Given the description of an element on the screen output the (x, y) to click on. 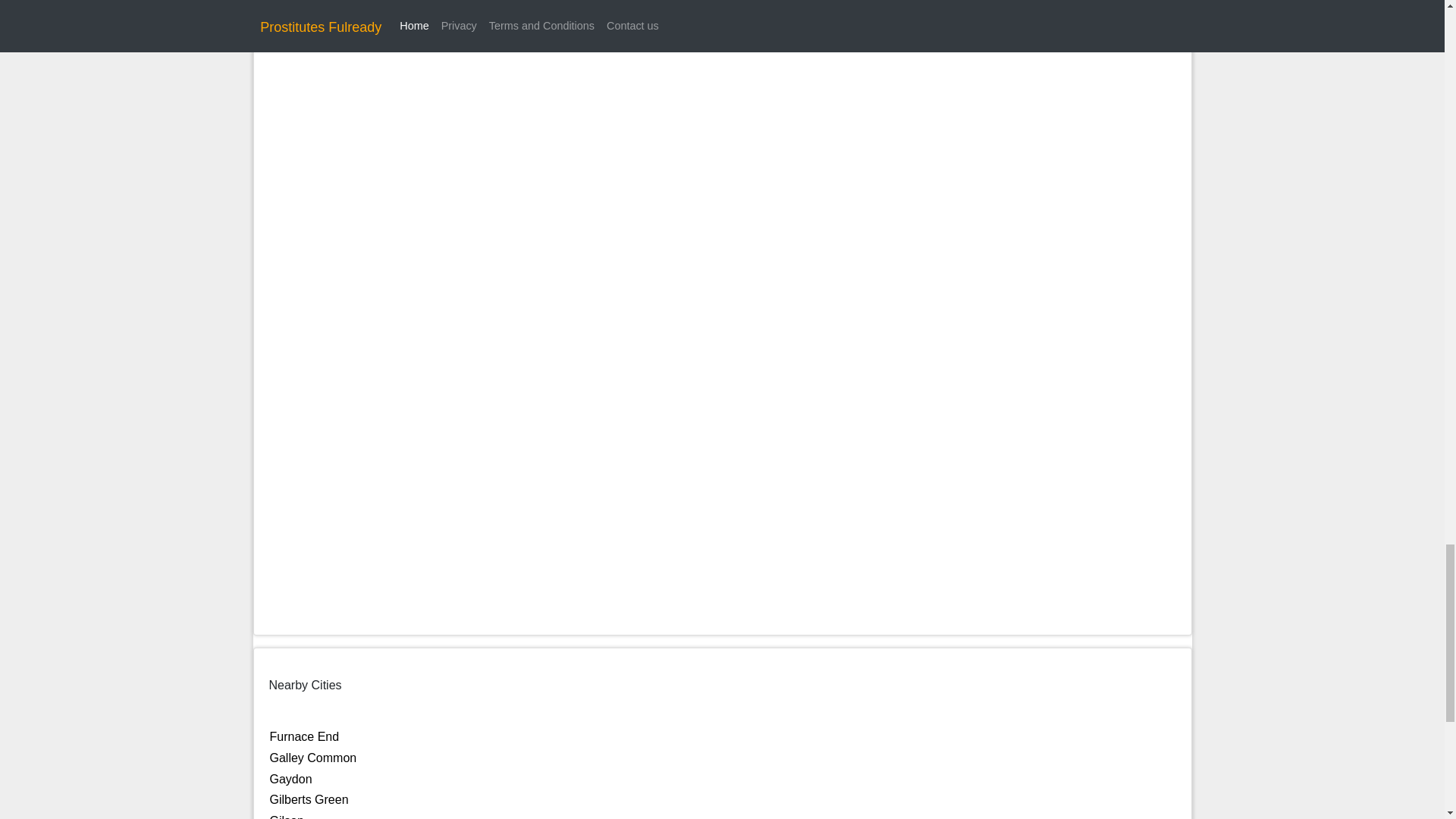
Gilson (286, 816)
Galley Common (312, 757)
Furnace End (304, 736)
Gilberts Green (309, 799)
Gaydon (291, 779)
